Given the description of an element on the screen output the (x, y) to click on. 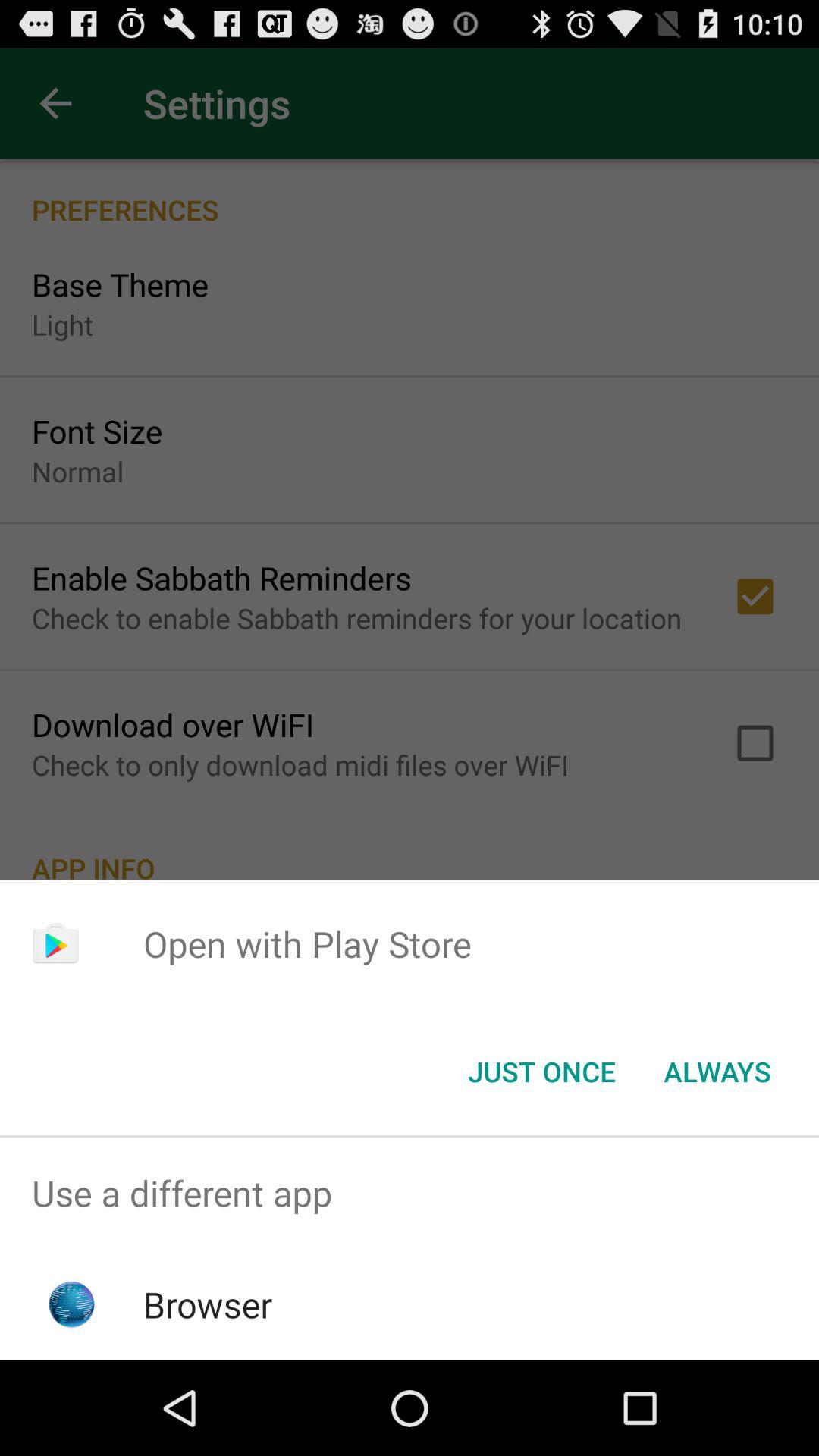
click the icon next to the just once (717, 1071)
